Given the description of an element on the screen output the (x, y) to click on. 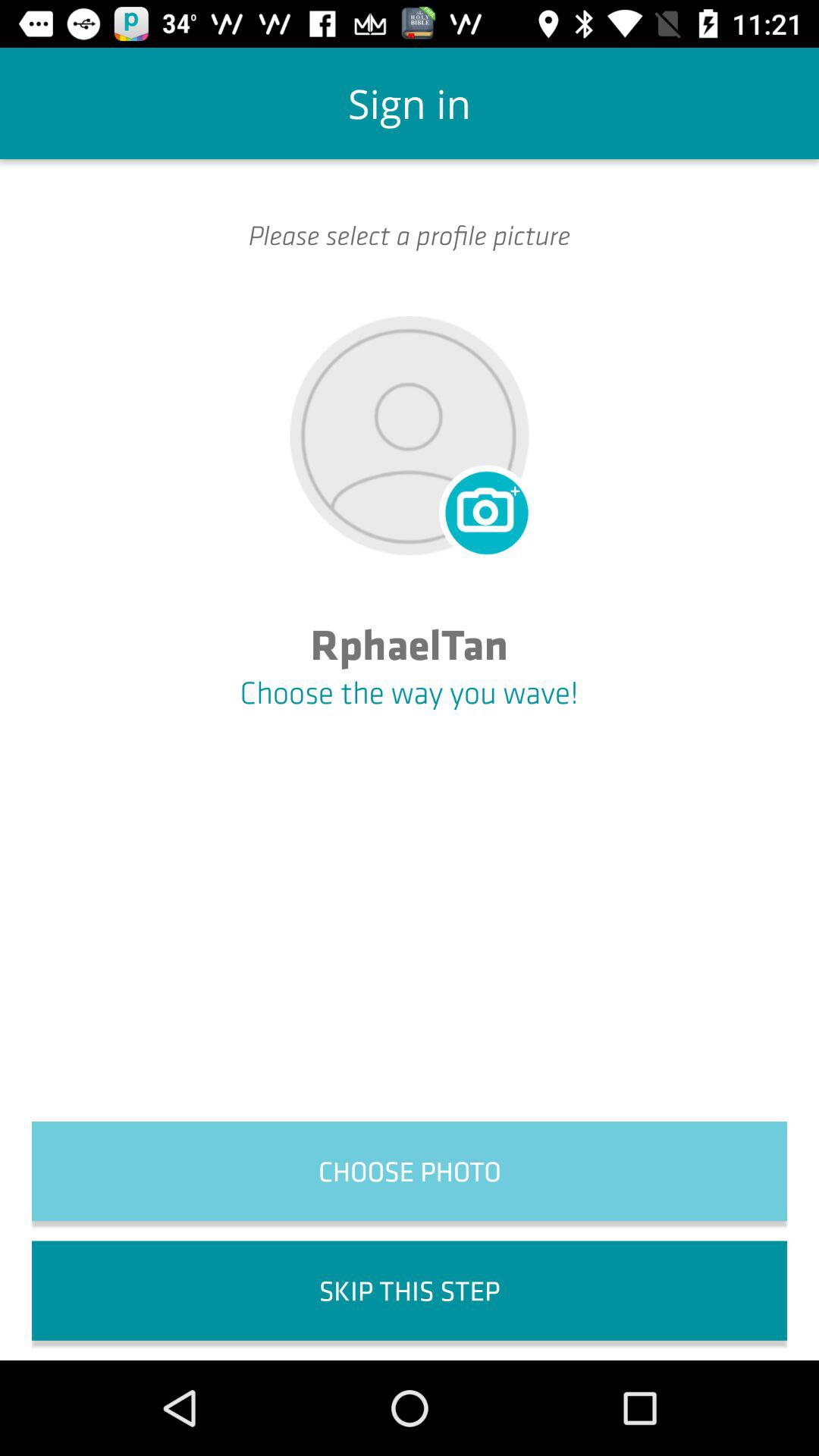
jump until the choose photo item (409, 1171)
